Given the description of an element on the screen output the (x, y) to click on. 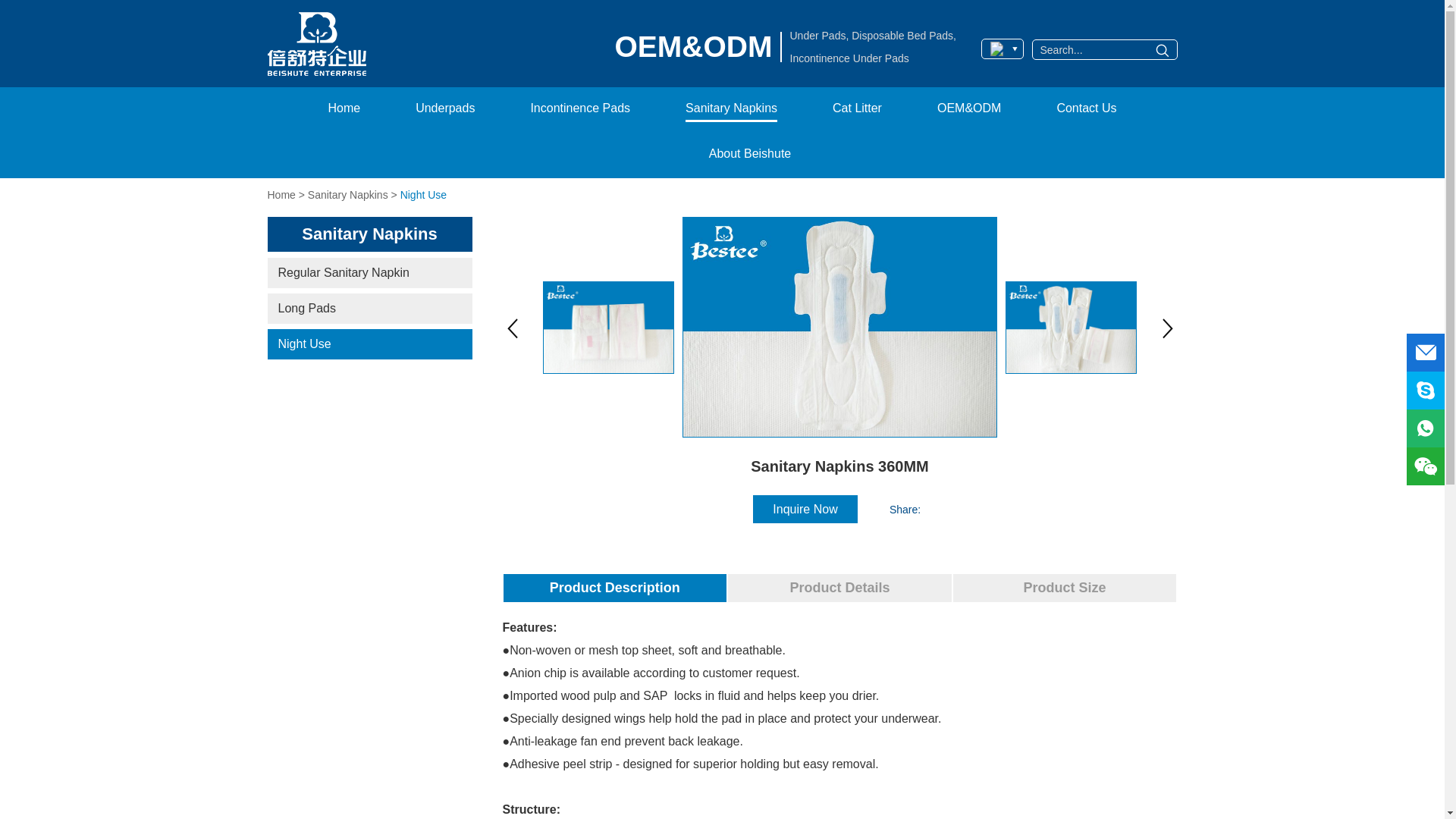
Incontinence Pads (579, 110)
Sanitary Napkins (731, 110)
Under Pads (824, 35)
Home (343, 110)
Underpads (444, 110)
Incontinence Under Pads (854, 58)
Incontinence Under Pads (864, 58)
